Given the description of an element on the screen output the (x, y) to click on. 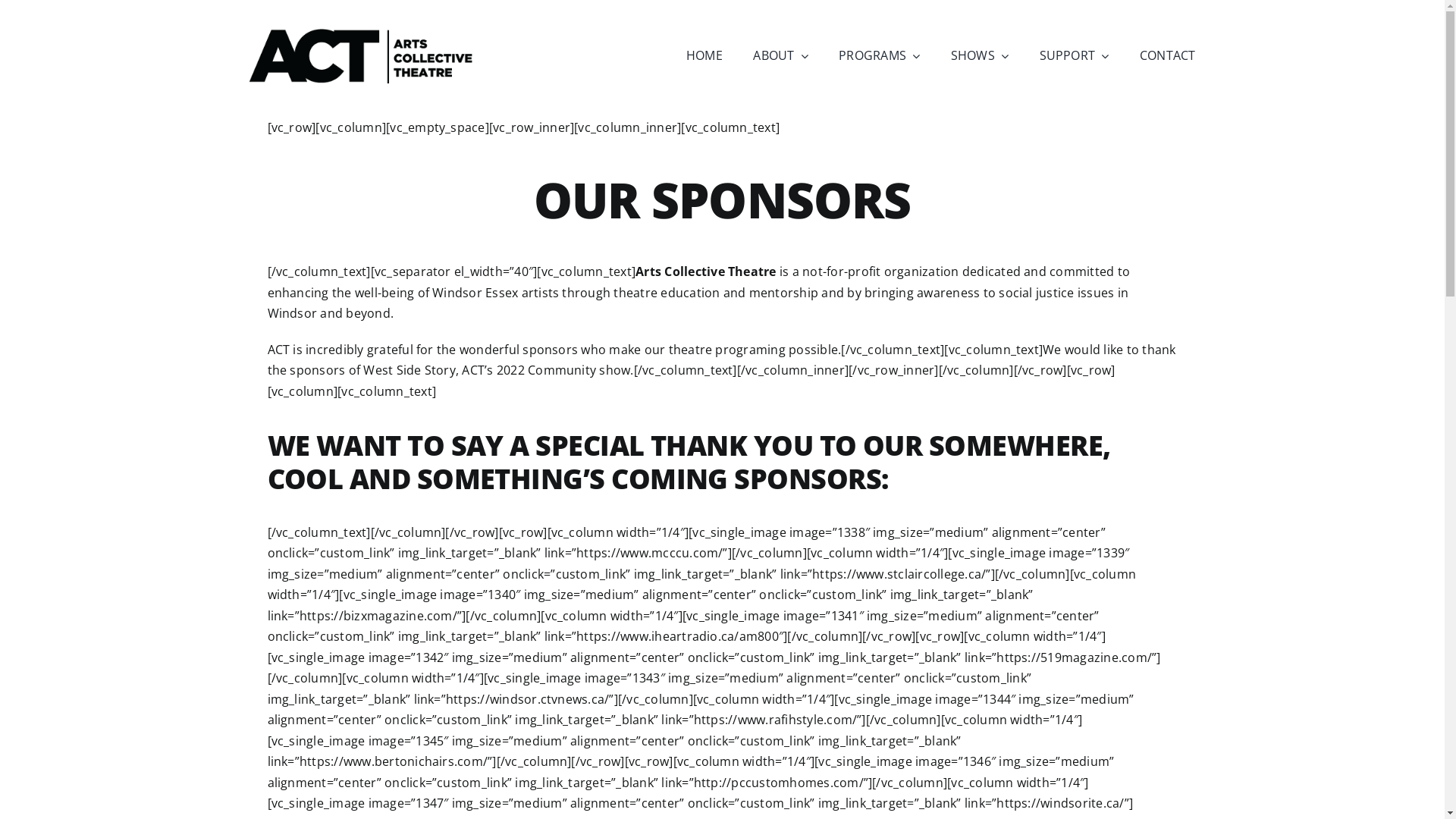
HOME Element type: text (704, 55)
SUPPORT Element type: text (1073, 55)
PROGRAMS Element type: text (878, 55)
CONTACT Element type: text (1167, 55)
ABOUT Element type: text (780, 55)
SHOWS Element type: text (979, 55)
